Given the description of an element on the screen output the (x, y) to click on. 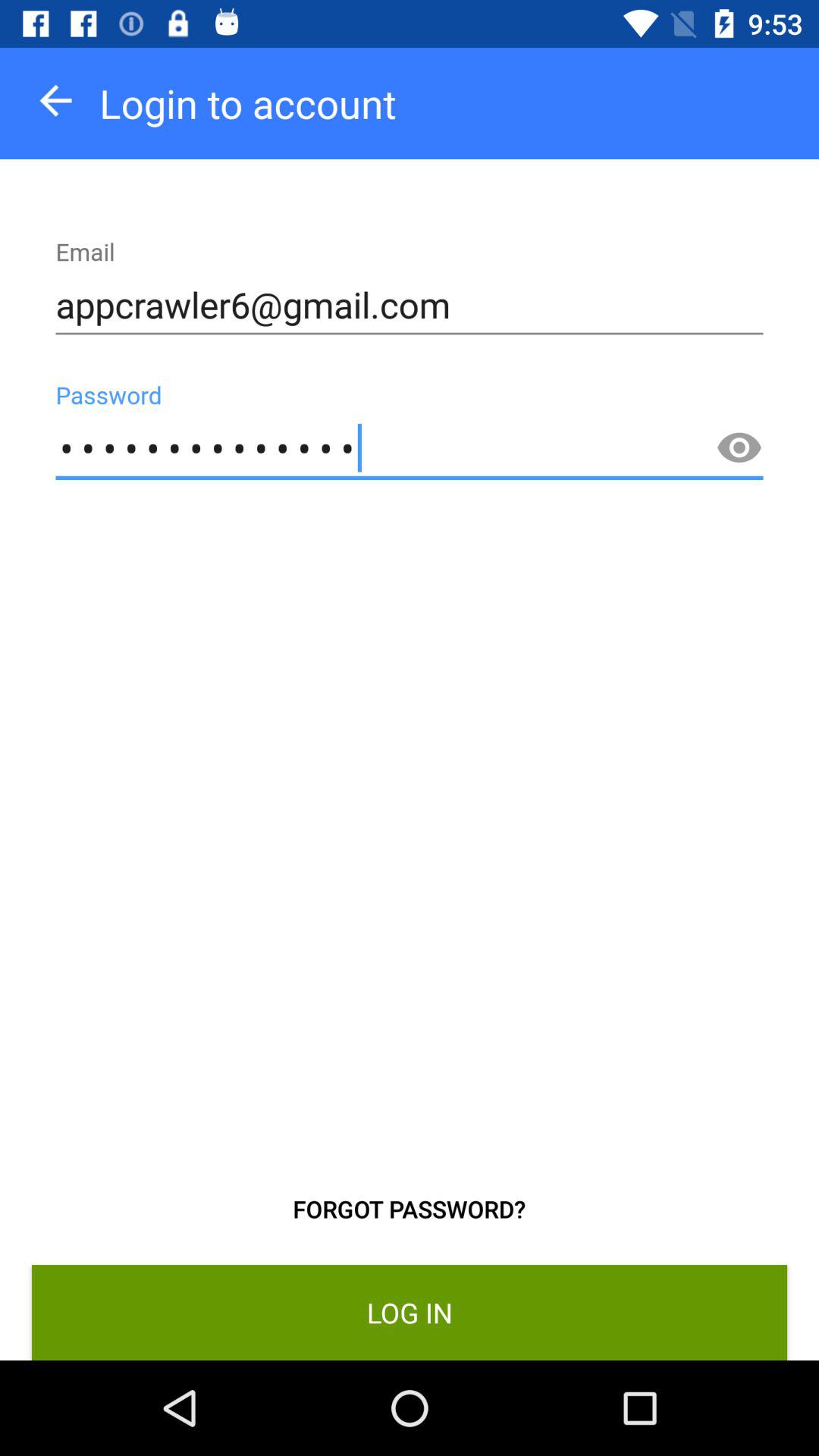
jump until the log in item (409, 1312)
